Given the description of an element on the screen output the (x, y) to click on. 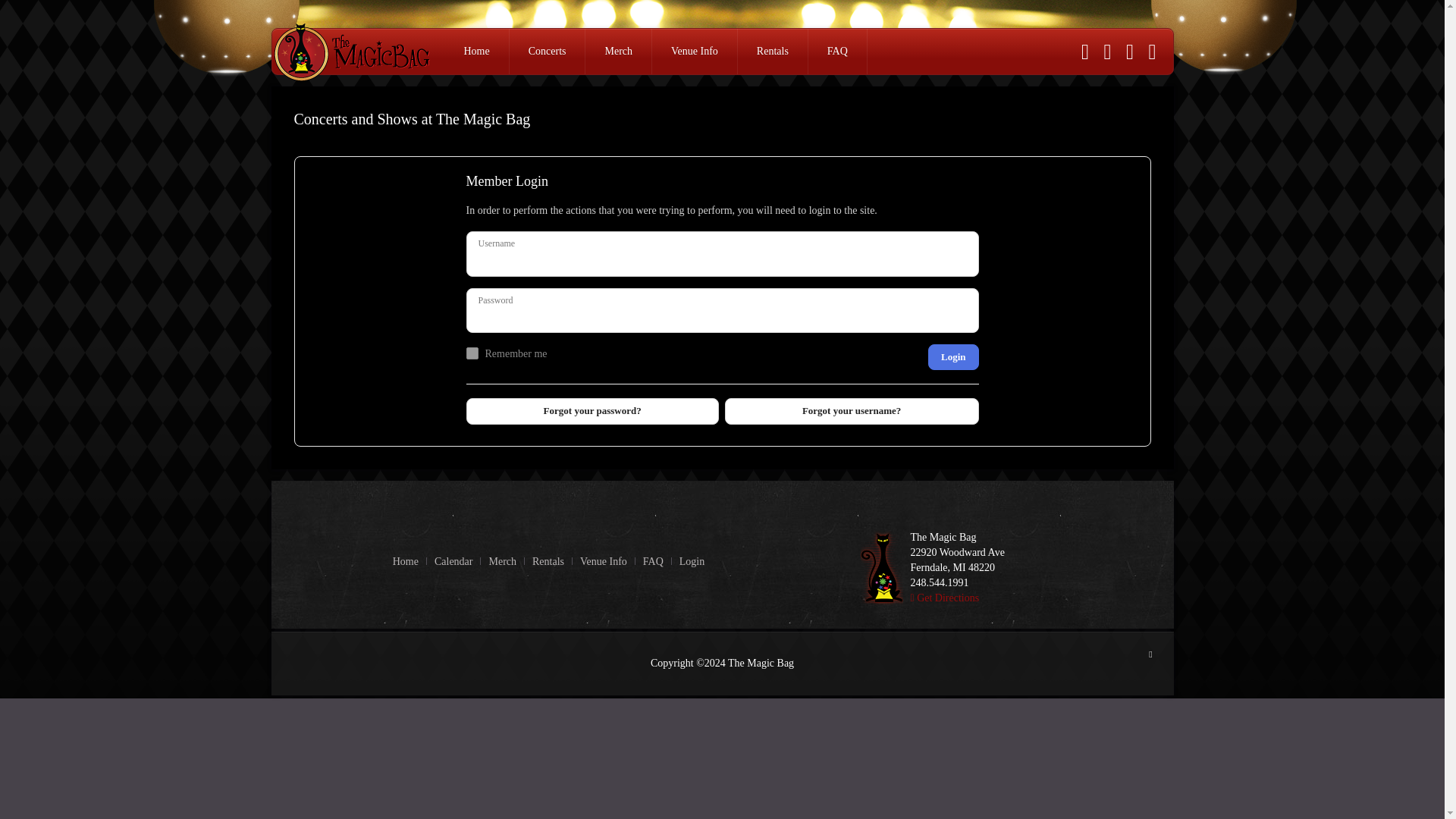
Rentals (773, 51)
Venue Info (603, 561)
 Get Directions (944, 596)
Venue Info (695, 51)
Home (406, 561)
Concerts (547, 51)
Login (953, 356)
FAQ (653, 561)
Home (476, 51)
Merch (618, 51)
Rentals (548, 561)
Merch (501, 561)
Forgot your username? (851, 411)
Login (691, 561)
Forgot your password? (591, 411)
